Given the description of an element on the screen output the (x, y) to click on. 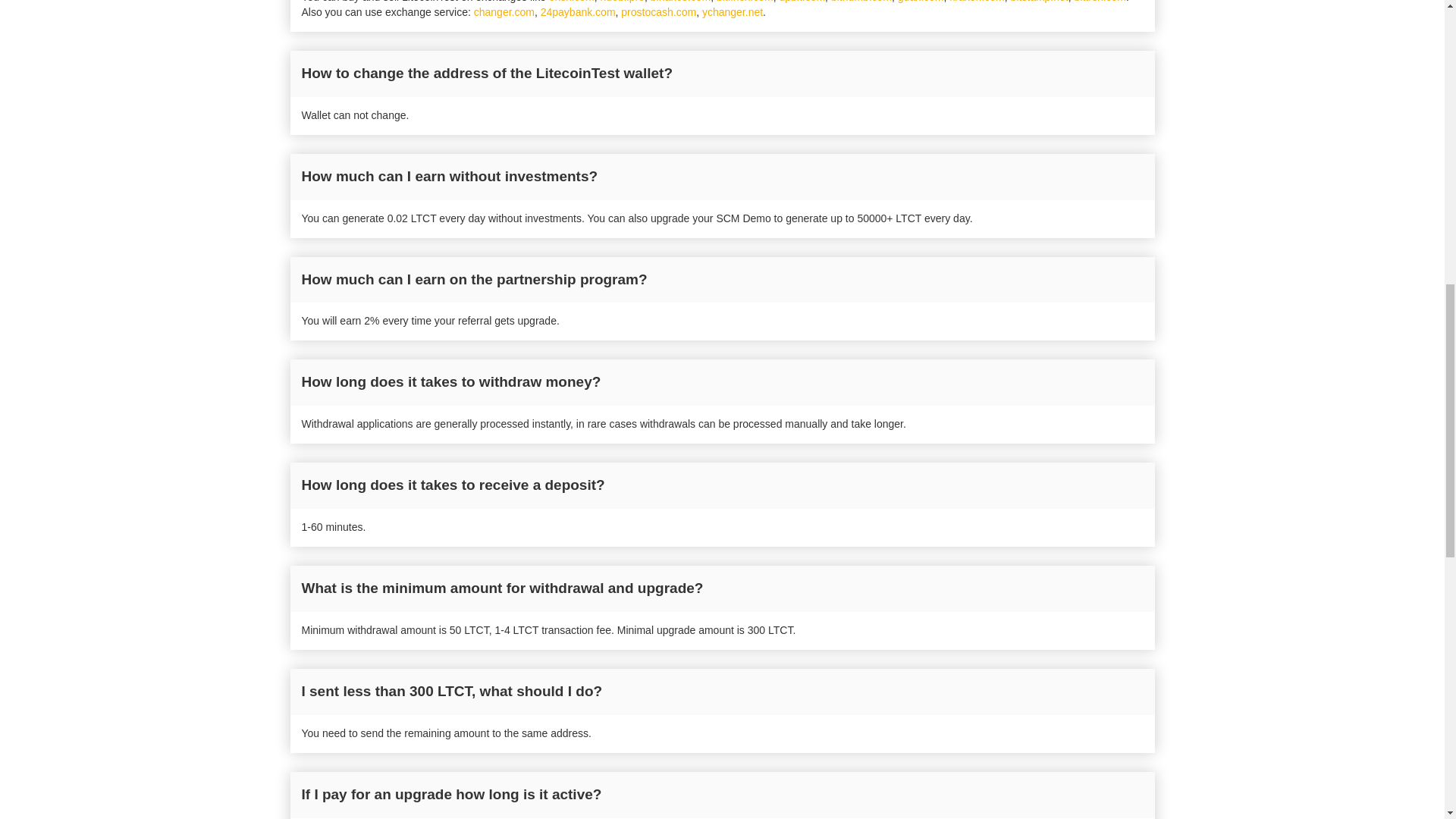
changer.com (504, 11)
prostocash.com (658, 11)
upbit.com (801, 1)
huobi.pro (622, 1)
okex.com (571, 1)
bitstamp.net (1038, 1)
bitfinex.com (744, 1)
binance.com (680, 1)
gdax.com (920, 1)
ychanger.net (731, 11)
bithumb.com (861, 1)
kraken.com (976, 1)
bittrex.com (1099, 1)
24paybank.com (577, 11)
